Given the description of an element on the screen output the (x, y) to click on. 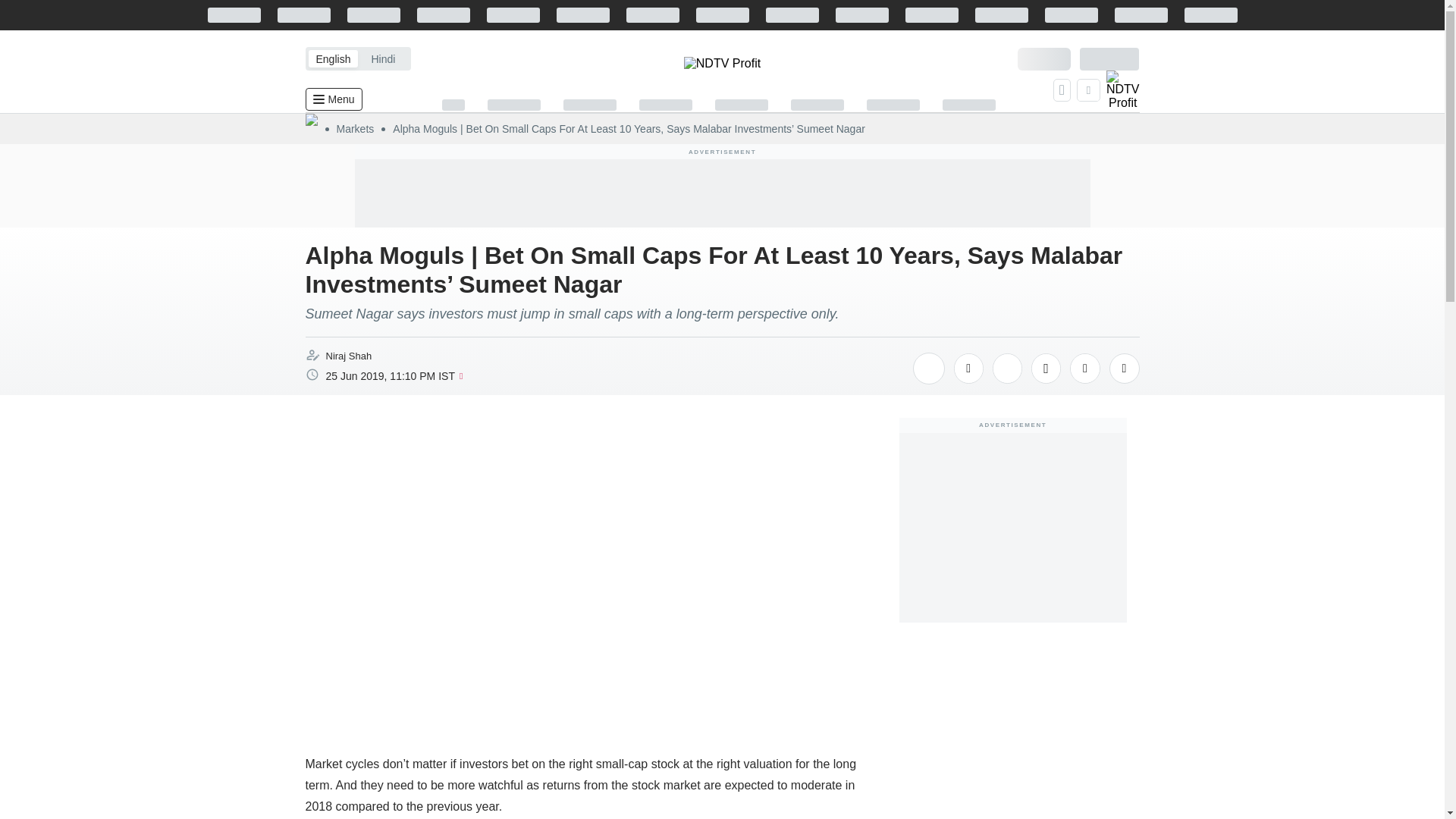
Hindi (382, 58)
Hindi (382, 58)
Menu (332, 98)
English (332, 58)
